Given the description of an element on the screen output the (x, y) to click on. 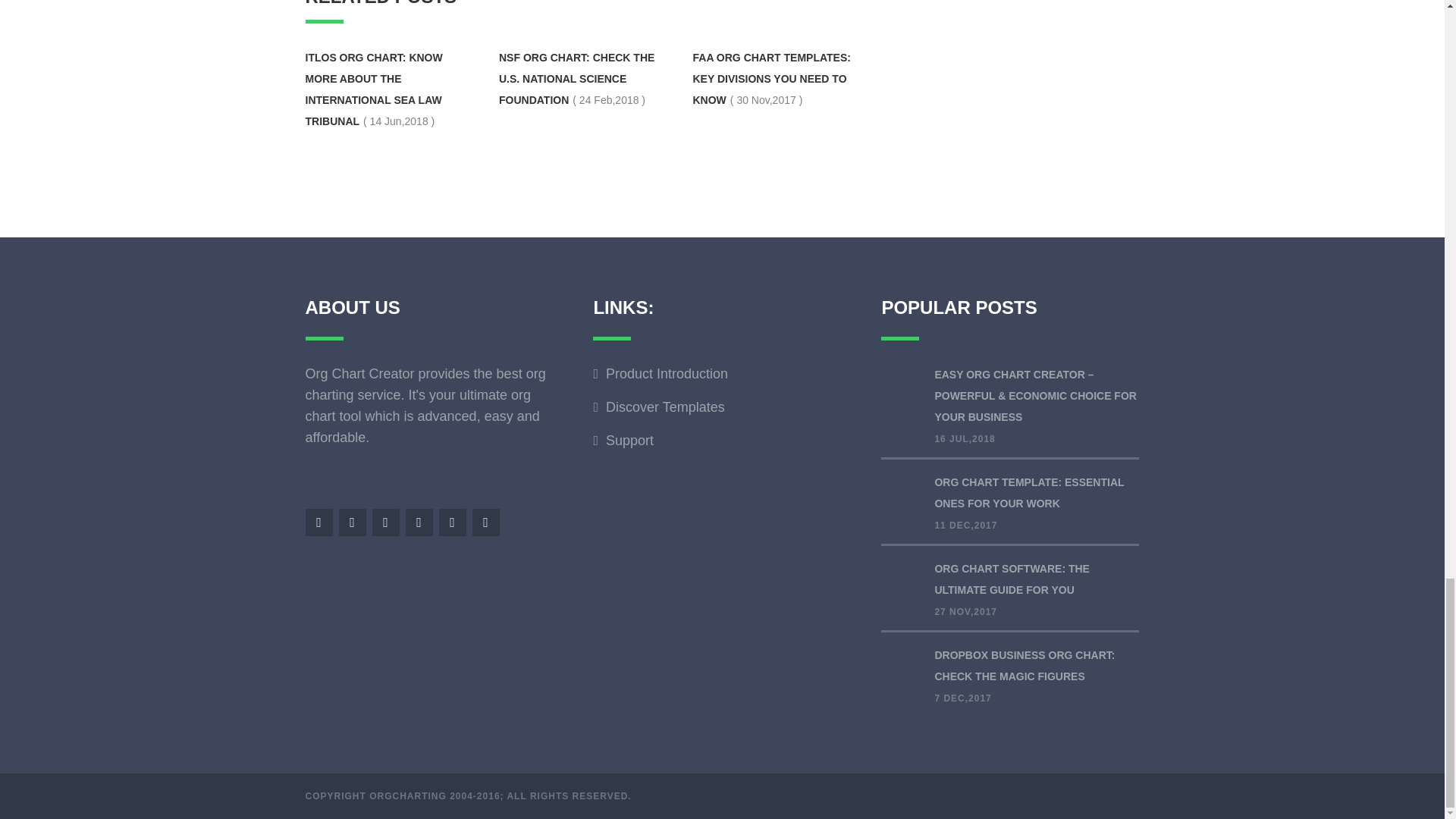
NSF ORG CHART: CHECK THE U.S. NATIONAL SCIENCE FOUNDATION (576, 78)
FAA ORG CHART TEMPLATES: KEY DIVISIONS YOU NEED TO KNOW (771, 78)
